Given the description of an element on the screen output the (x, y) to click on. 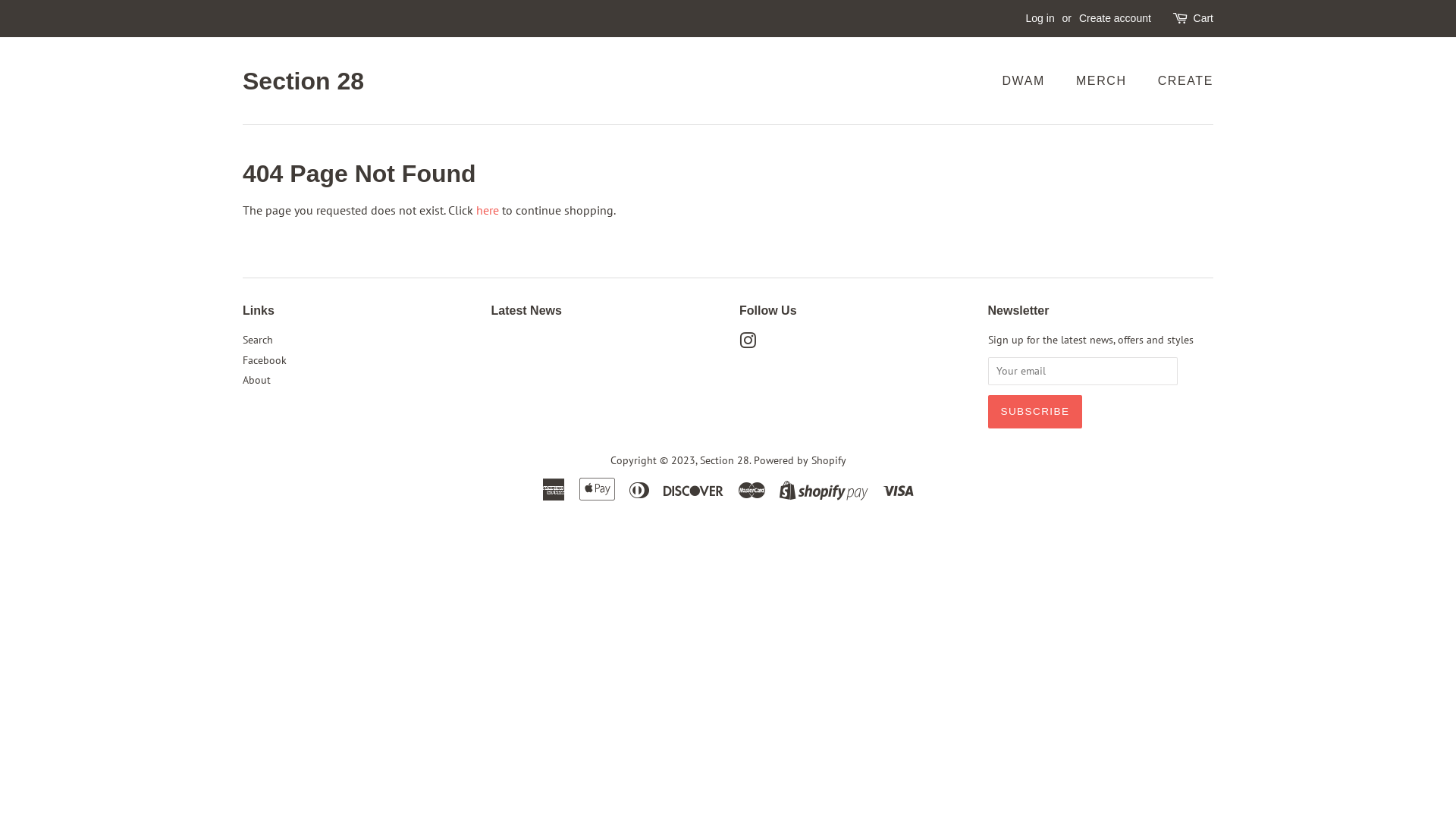
Search Element type: text (257, 339)
About Element type: text (256, 379)
MERCH Element type: text (1103, 80)
Powered by Shopify Element type: text (799, 460)
DWAM Element type: text (1030, 80)
Create account Element type: text (1115, 18)
here Element type: text (487, 209)
Section 28 Element type: text (723, 460)
Latest News Element type: text (526, 310)
Log in Element type: text (1040, 18)
Cart Element type: text (1203, 18)
Facebook Element type: text (264, 360)
Section 28 Element type: text (303, 80)
Subscribe Element type: text (1034, 411)
CREATE Element type: text (1179, 80)
Instagram Element type: text (747, 343)
